Given the description of an element on the screen output the (x, y) to click on. 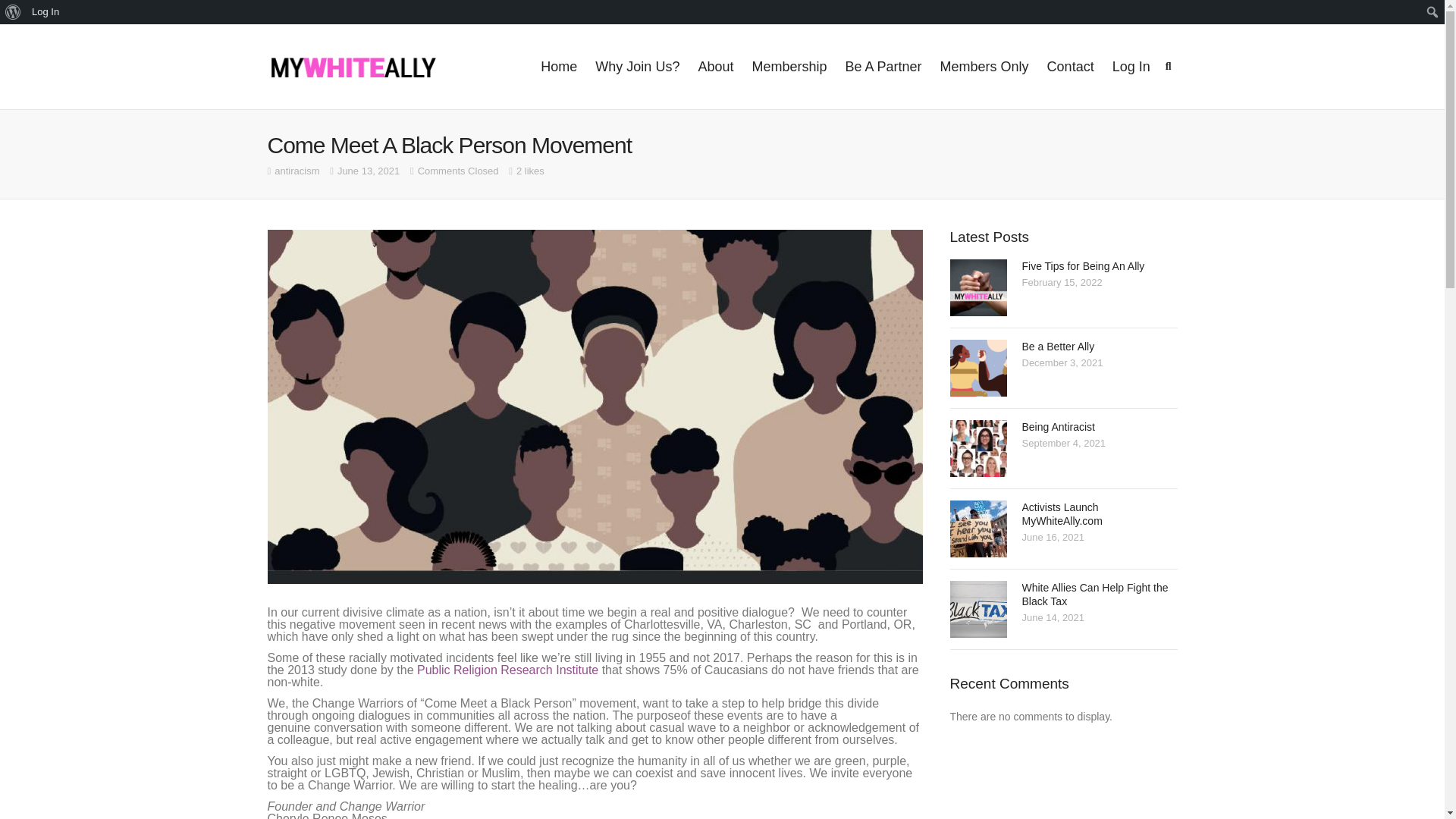
antiracism (296, 170)
Be A Partner (882, 66)
Log In (45, 12)
Search (11, 12)
Public Religion Research Institute (507, 669)
Why Join Us? (637, 66)
Members Only (984, 66)
Membership (788, 66)
